Given the description of an element on the screen output the (x, y) to click on. 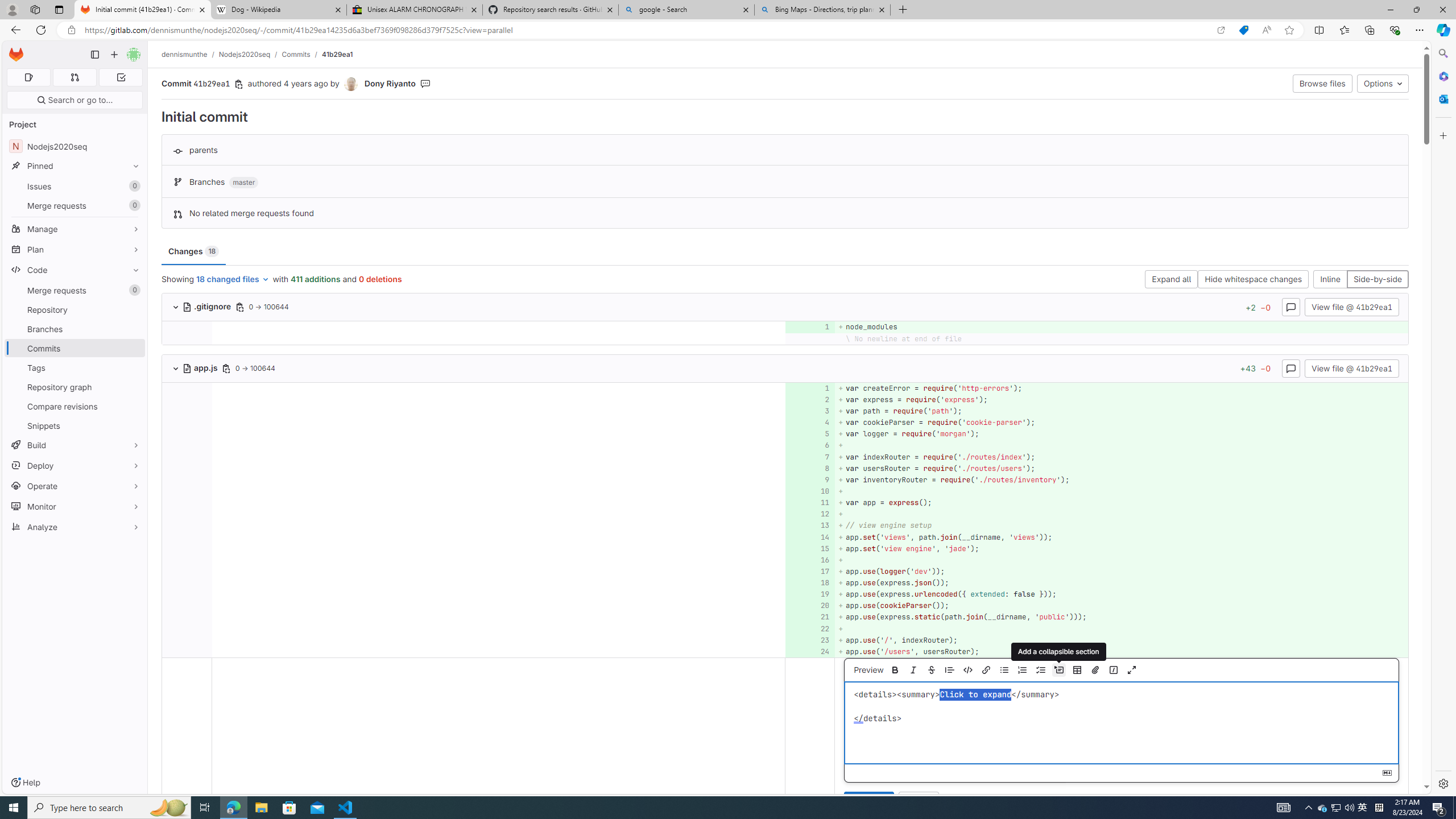
+  (1120, 628)
Add bold text (Ctrl+B) (895, 670)
Operate (74, 485)
app.js  (200, 367)
Add a table (1077, 670)
8 (808, 468)
Add a comment to this line 6 (809, 445)
Toggle comments for this file (1290, 367)
Tags (74, 367)
